Given the description of an element on the screen output the (x, y) to click on. 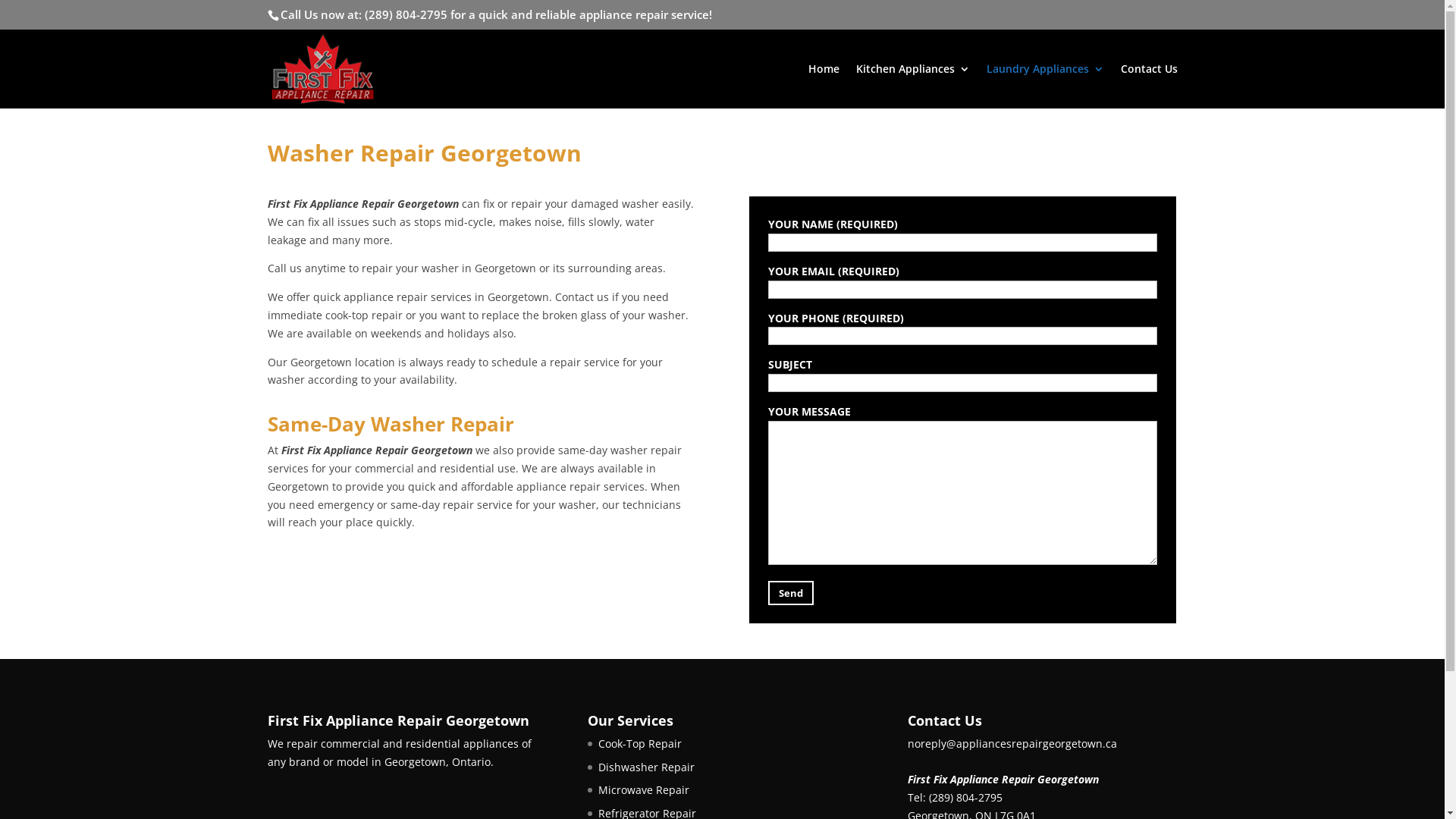
Cook-Top Repair Element type: text (638, 743)
Dishwasher Repair Element type: text (645, 766)
noreply@appliancesrepairgeorgetown.ca Element type: text (1011, 743)
Contact Us Element type: text (1148, 85)
Microwave Repair Element type: text (642, 789)
(289) 804-2795 Element type: text (964, 797)
Send Element type: text (789, 592)
Kitchen Appliances Element type: text (912, 85)
Laundry Appliances Element type: text (1044, 85)
(289) 804-2795 Element type: text (405, 13)
Home Element type: text (823, 85)
